Given the description of an element on the screen output the (x, y) to click on. 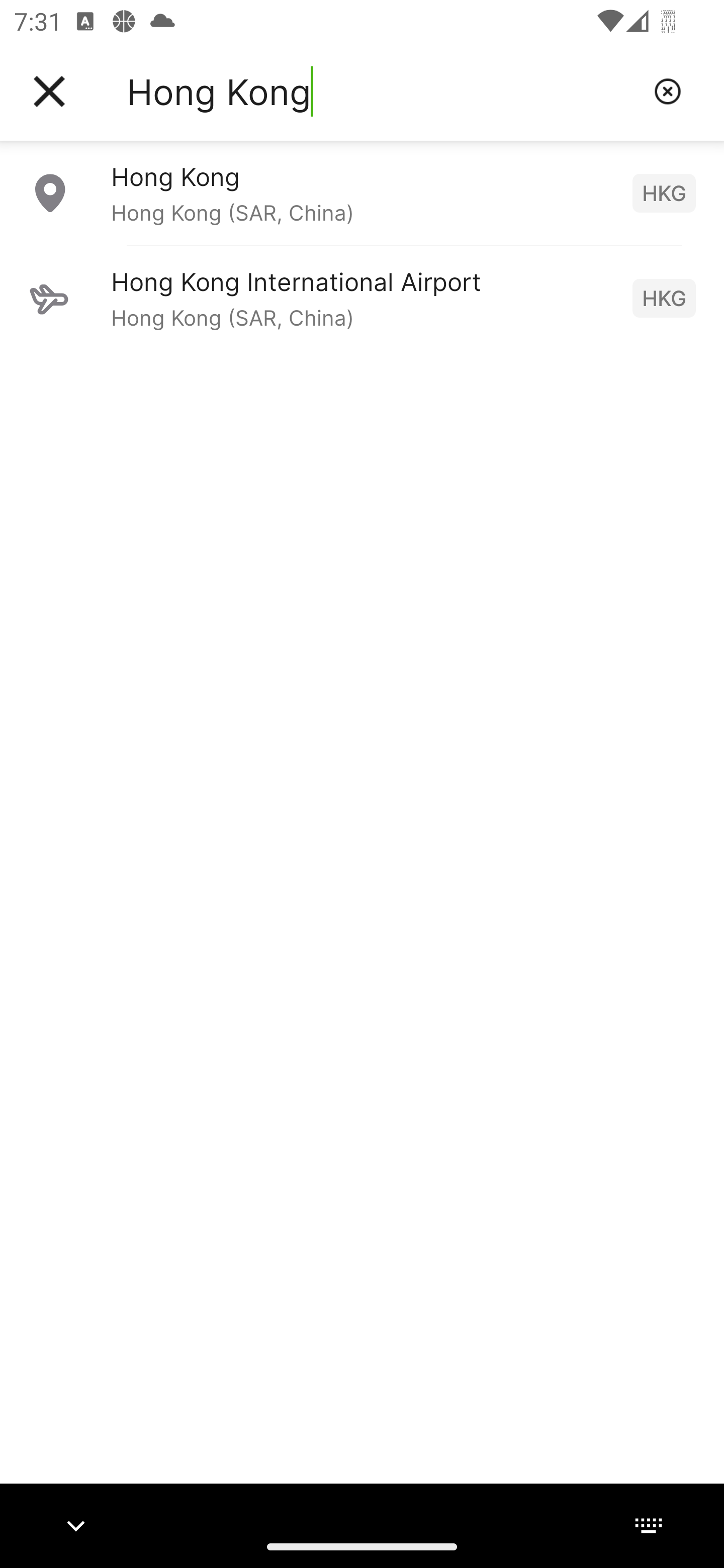
Hong Kong (382, 91)
Hong Kong Hong Kong (SAR, China) HKG (362, 192)
